Given the description of an element on the screen output the (x, y) to click on. 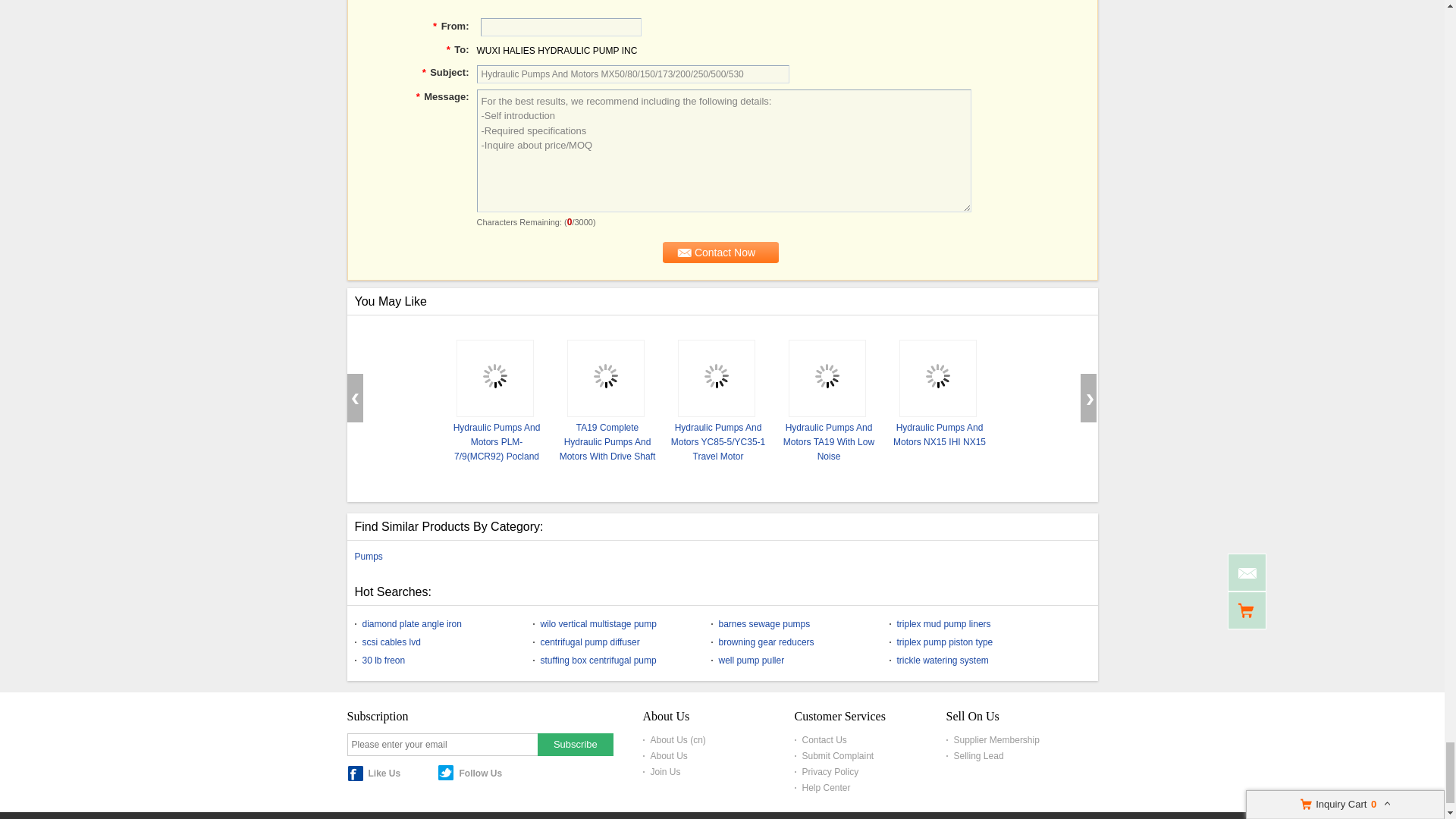
TA19 Complete Hydraulic Pumps And Motors With Drive Shaft (607, 441)
Cheap Hydraulic Pumps And Motors NX15 IHI NX15 for sale (939, 433)
Best Hydraulic Pumps And Motors NX15 IHI NX15 wholesale (937, 377)
Contact Now (720, 251)
Subscribe (574, 743)
Contact China factory now (720, 251)
Contact Now (720, 251)
